Given the description of an element on the screen output the (x, y) to click on. 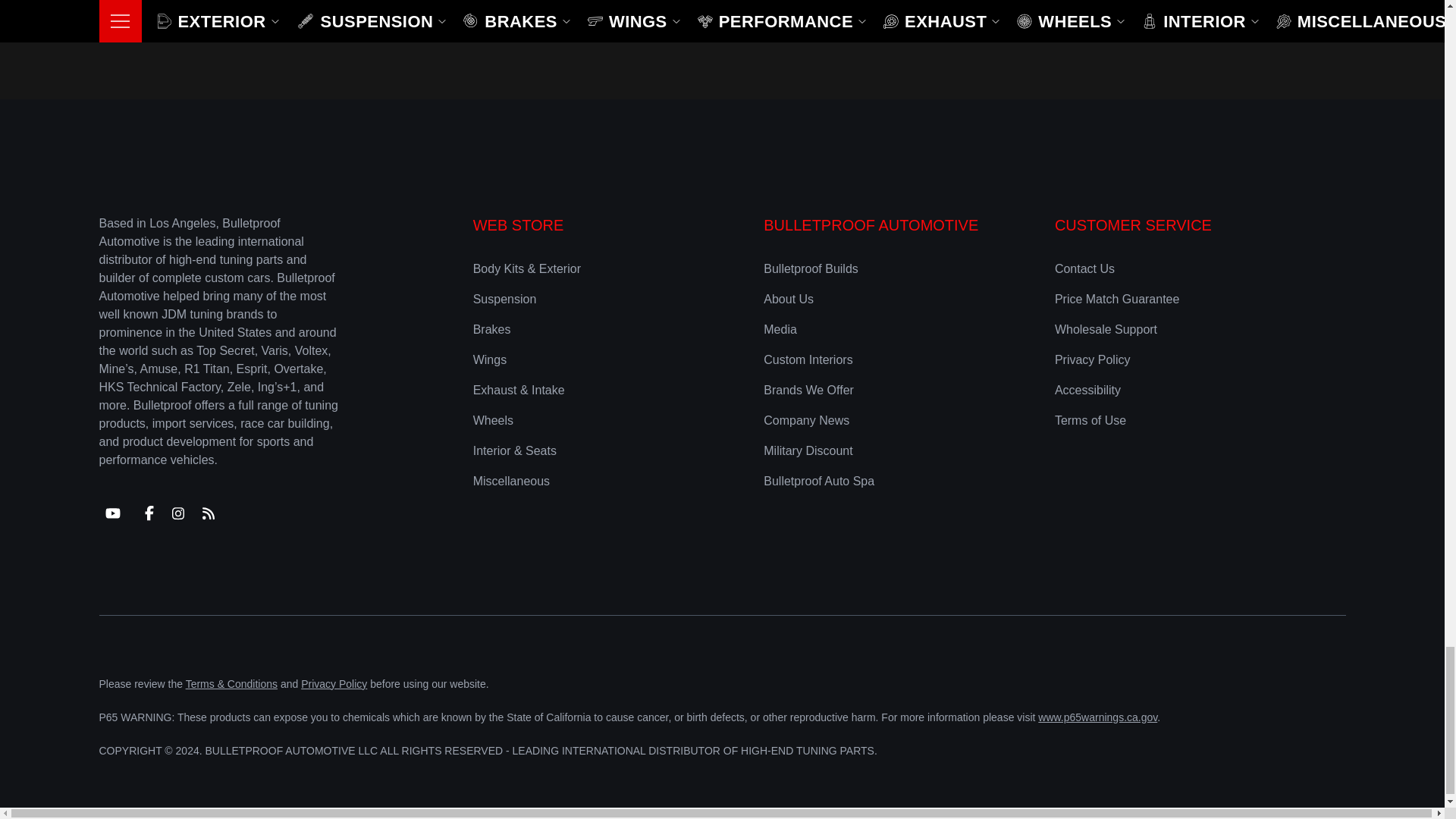
RSS Feed (207, 513)
Instagram (177, 513)
YouTube (112, 513)
